Given the description of an element on the screen output the (x, y) to click on. 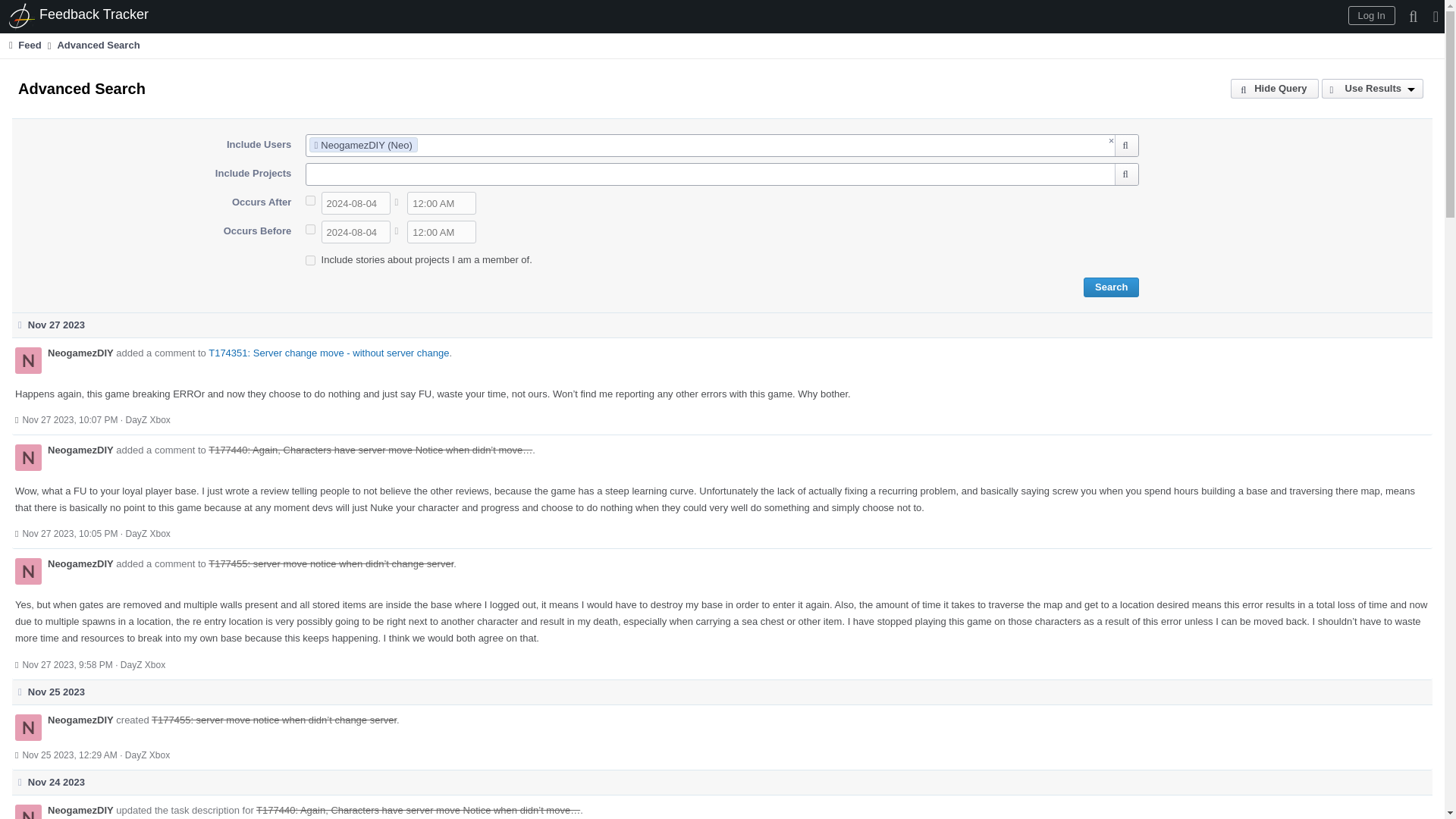
Nov 25 2023, 12:29 AM (68, 755)
1 (310, 229)
Log In (1371, 15)
12:00 AM (441, 231)
NeogamezDIY (80, 352)
Nov 27 2023, 10:07 PM (69, 419)
DayZ Xbox (142, 665)
Feedback Tracker (78, 16)
12:00 AM (441, 202)
2024-08-04 (355, 202)
Feed (23, 44)
1 (310, 200)
Search (1110, 287)
NeogamezDIY (80, 563)
2024-08-04 (355, 231)
